Given the description of an element on the screen output the (x, y) to click on. 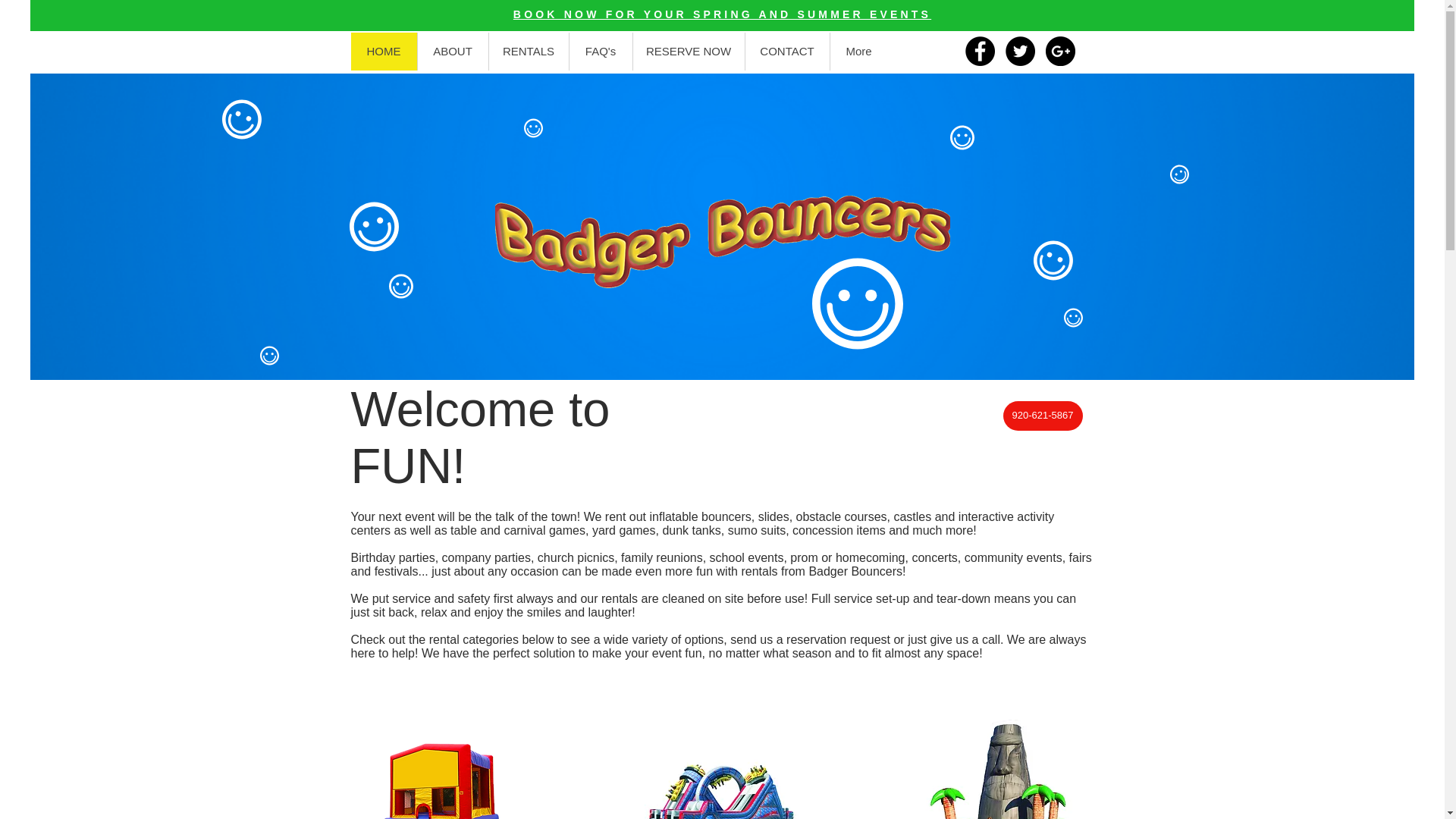
yard games (624, 530)
CONTACT (786, 51)
table and carnival games (517, 530)
slides (773, 516)
ABOUT (451, 51)
inflatable bouncers (700, 516)
concession items (838, 530)
obstacle courses (841, 516)
dunk tanks (691, 530)
RESERVE NOW (687, 51)
